Given the description of an element on the screen output the (x, y) to click on. 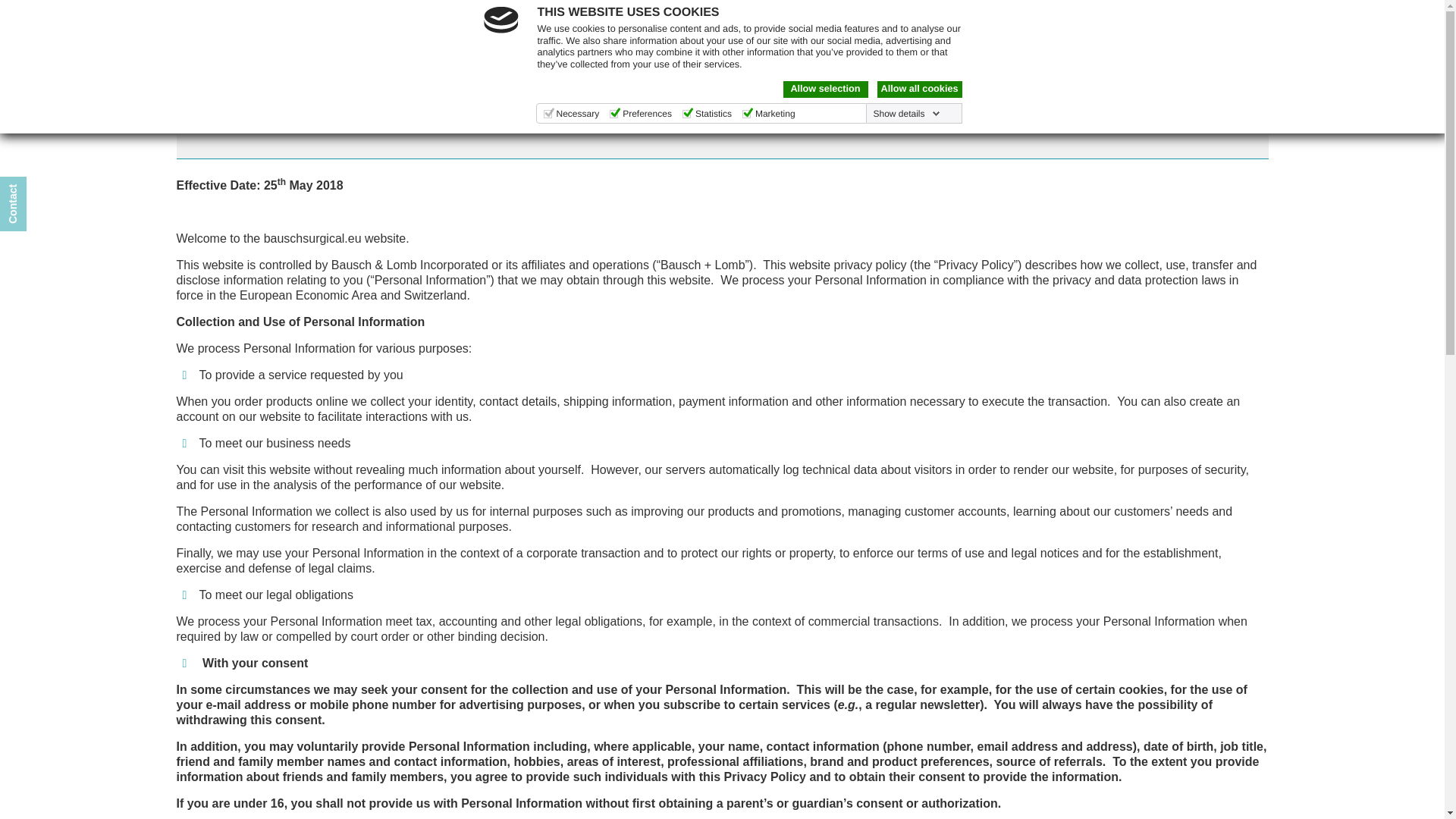
Allow all cookies (918, 89)
OUR COMPANY (540, 60)
PRODUCTS (649, 60)
Show details (905, 113)
CAREERS (740, 60)
CONTACT (825, 60)
Contact (1252, 50)
Allow selection (825, 89)
